Given the description of an element on the screen output the (x, y) to click on. 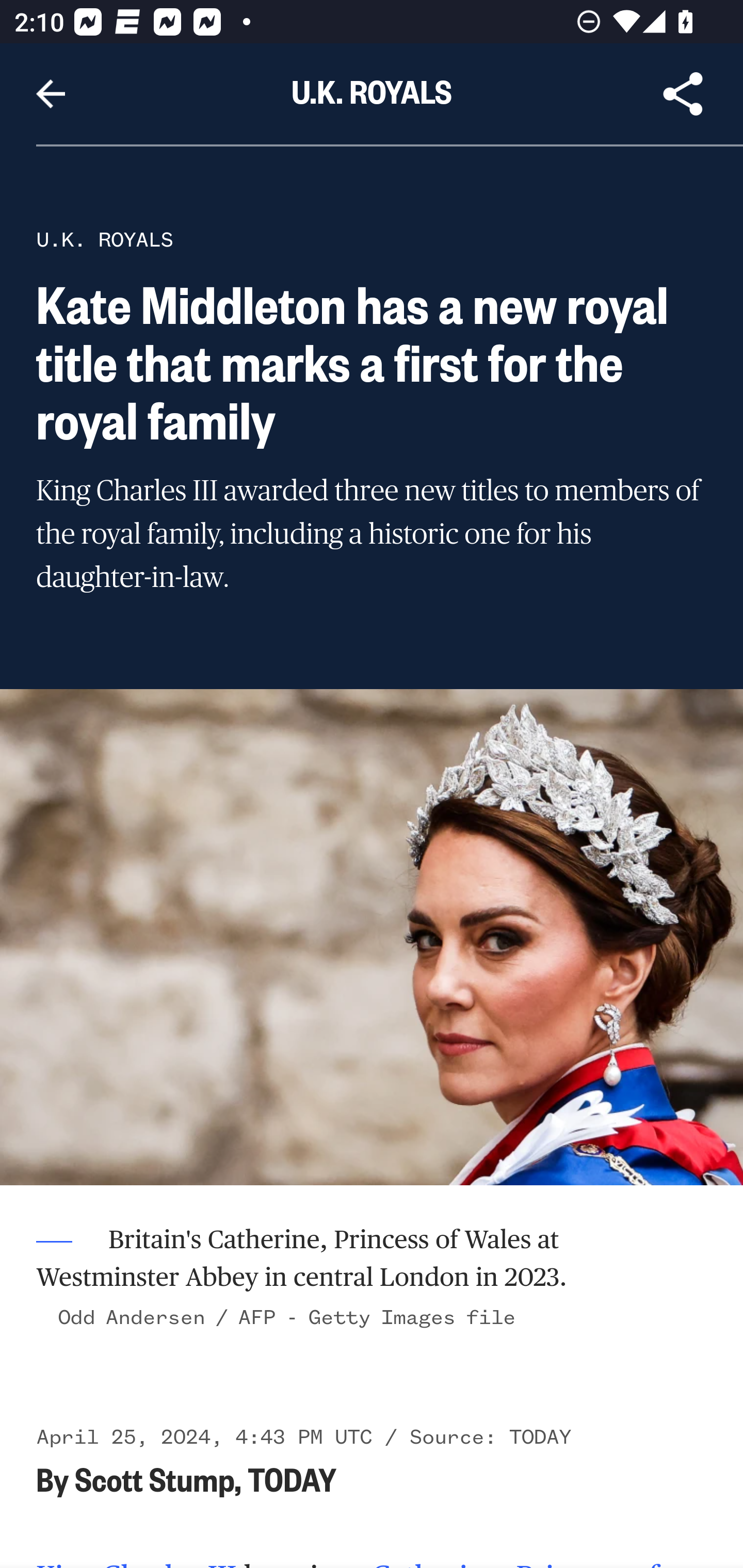
Navigate up (50, 93)
Share Article, button (683, 94)
